Given the description of an element on the screen output the (x, y) to click on. 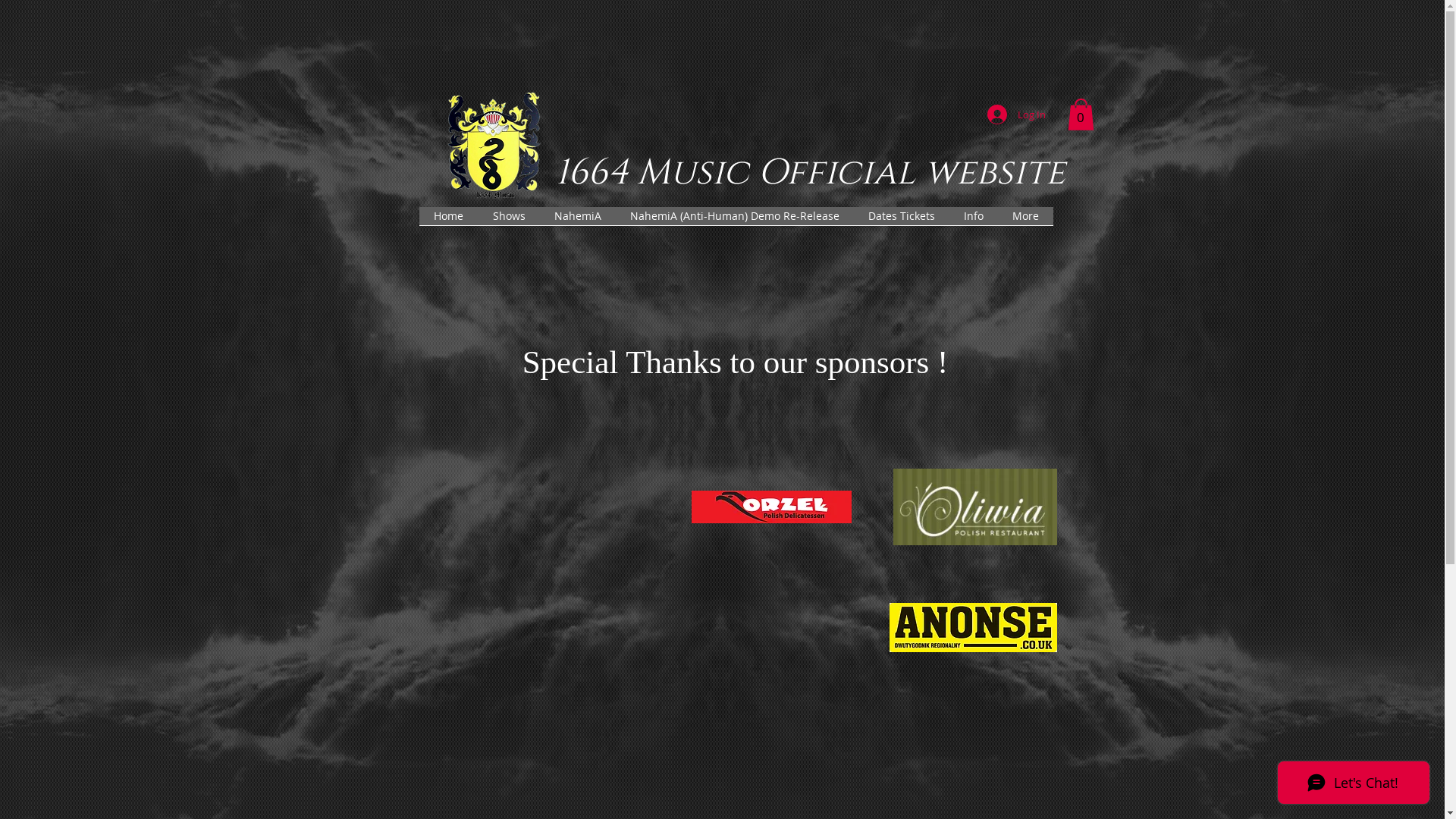
Facebook Like Element type: hover (1051, 235)
Log In Element type: text (1016, 114)
0 Element type: text (1080, 114)
Info Element type: text (973, 221)
NahemiA (Anti-Human) Demo Re-Release Element type: text (734, 221)
Dates Tickets Element type: text (901, 221)
NahemiA Element type: text (577, 221)
Home Element type: text (447, 221)
